Given the description of an element on the screen output the (x, y) to click on. 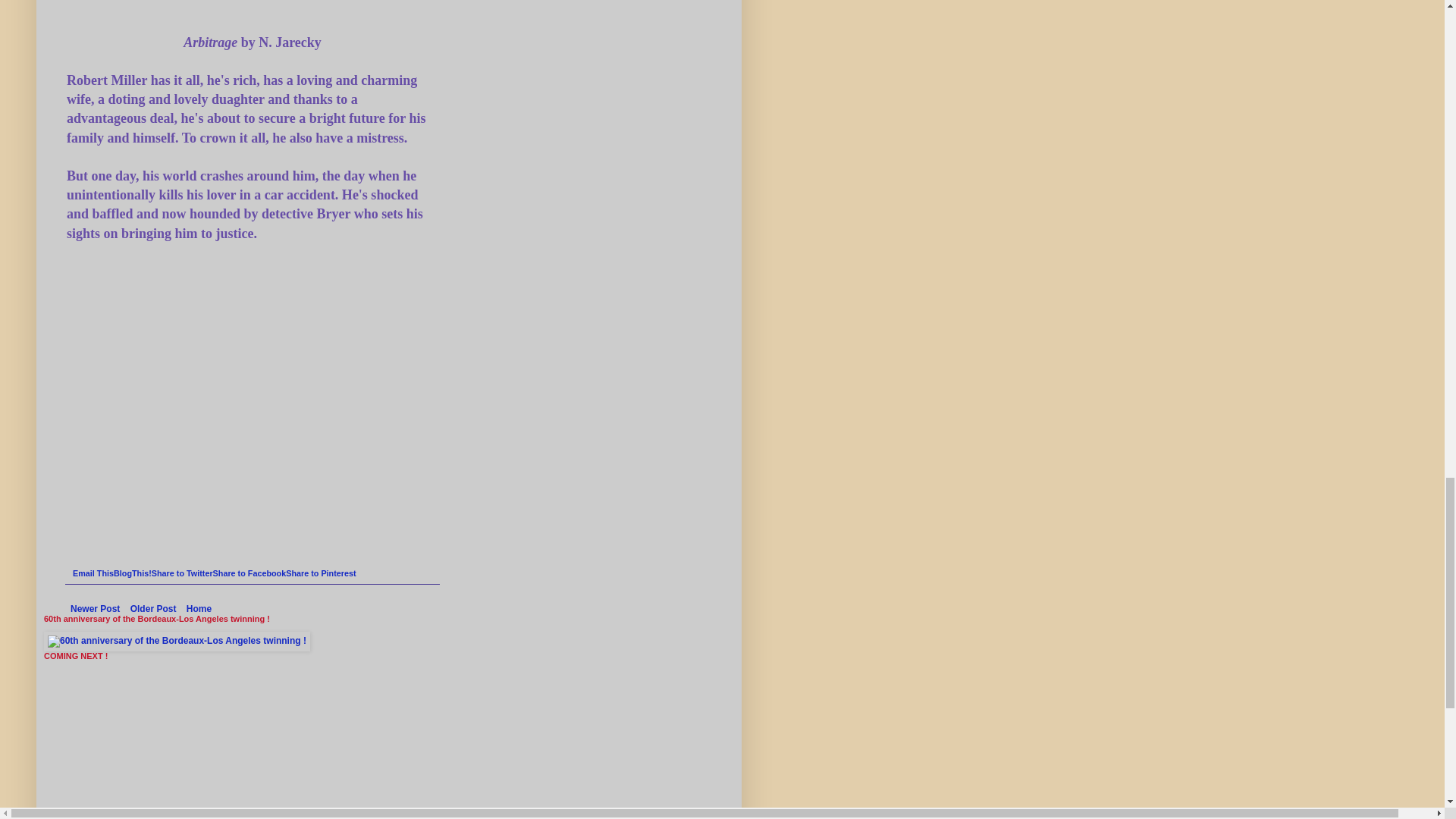
Share to Twitter (181, 573)
Share to Facebook (249, 573)
Share to Pinterest (320, 573)
Home (199, 608)
Share to Facebook (249, 573)
Share to Twitter (181, 573)
Email This (92, 573)
Older Post (153, 608)
BlogThis! (132, 573)
Email Post (78, 560)
BlogThis! (132, 573)
Share to Pinterest (320, 573)
Newer Post (94, 608)
Email This (92, 573)
Newer Post (94, 608)
